Given the description of an element on the screen output the (x, y) to click on. 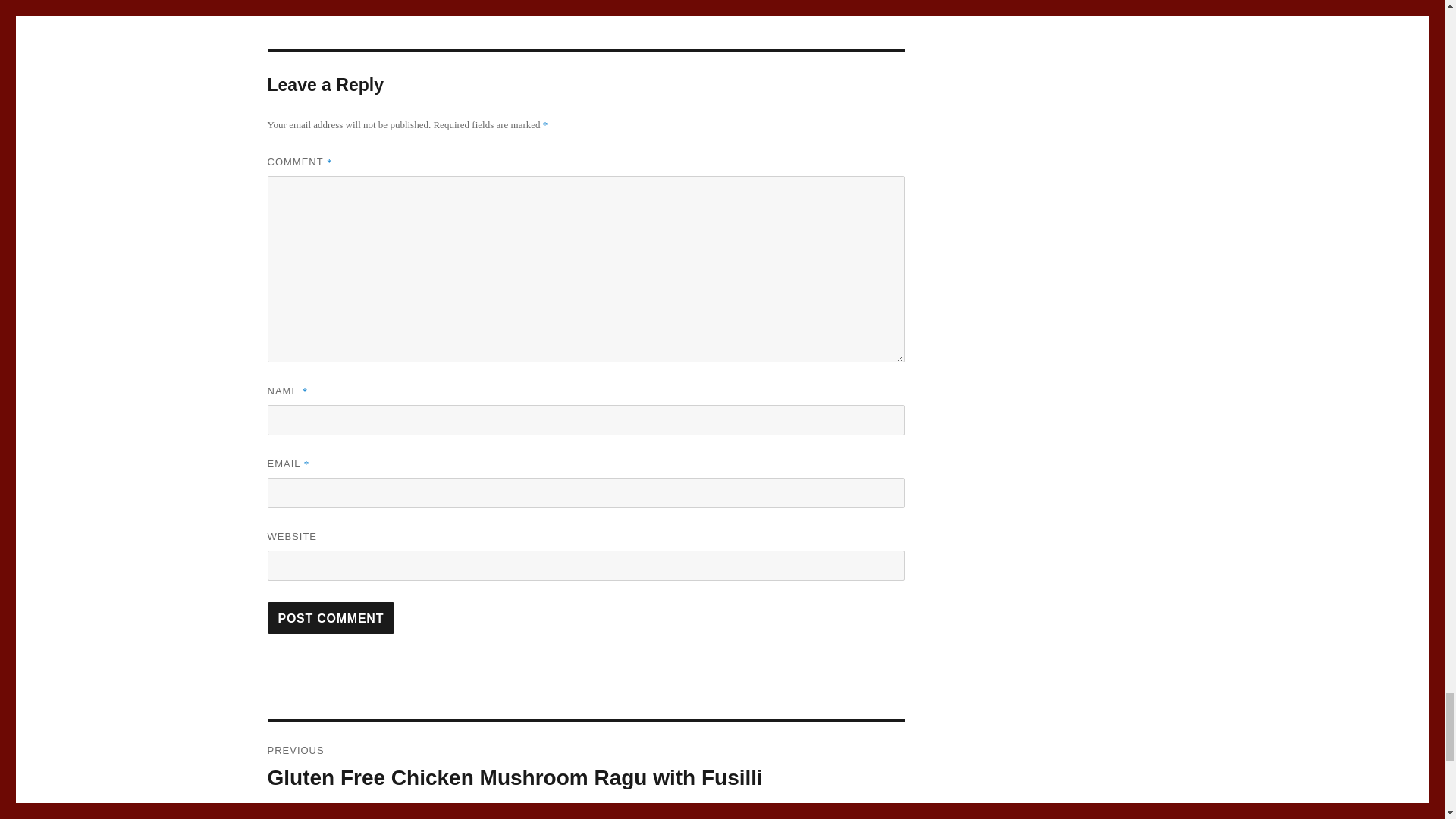
Post Comment (330, 617)
